Given the description of an element on the screen output the (x, y) to click on. 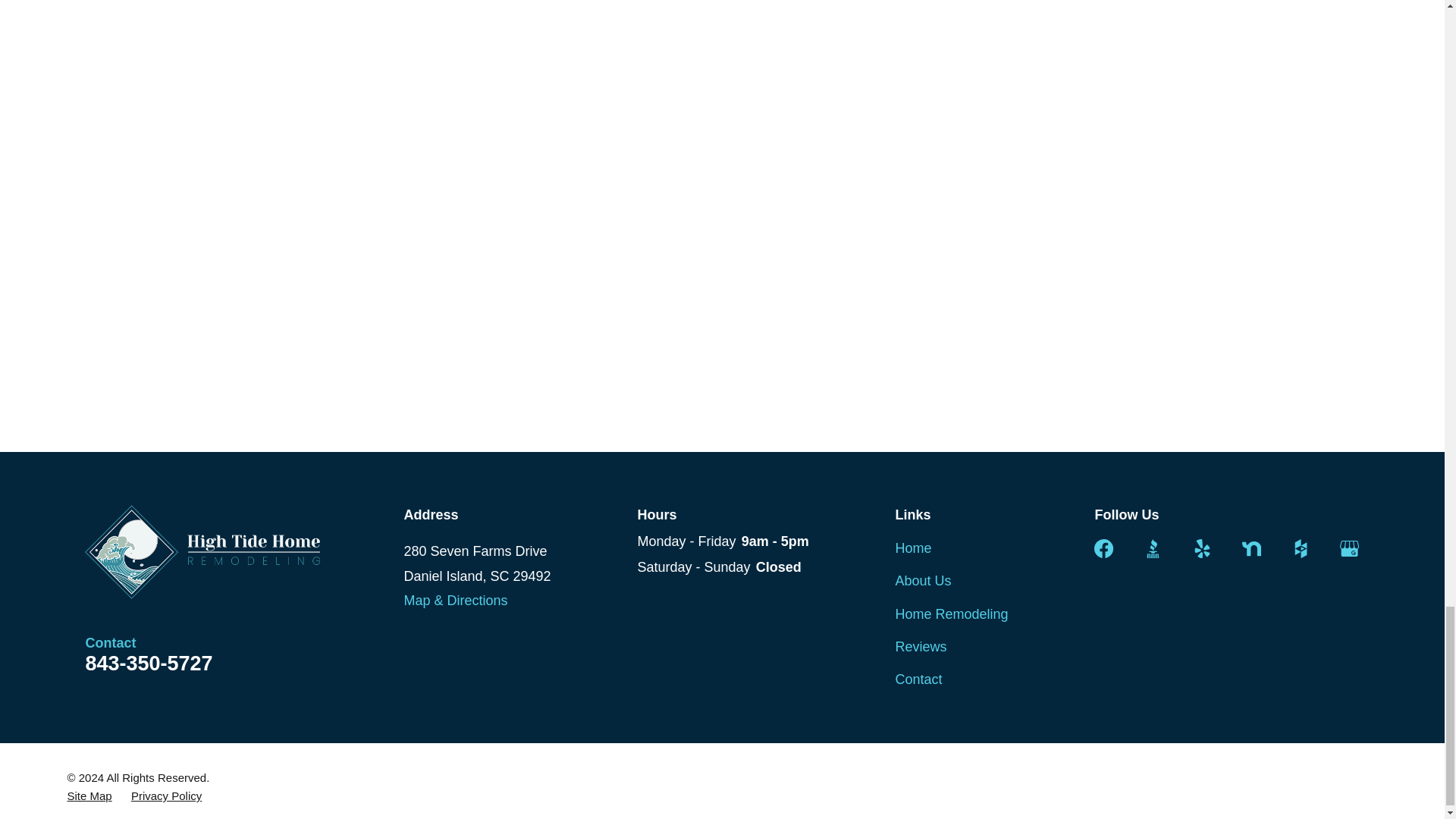
Facebook (1103, 547)
Yelp (1201, 547)
Home (202, 551)
BBB.org (1151, 547)
